Given the description of an element on the screen output the (x, y) to click on. 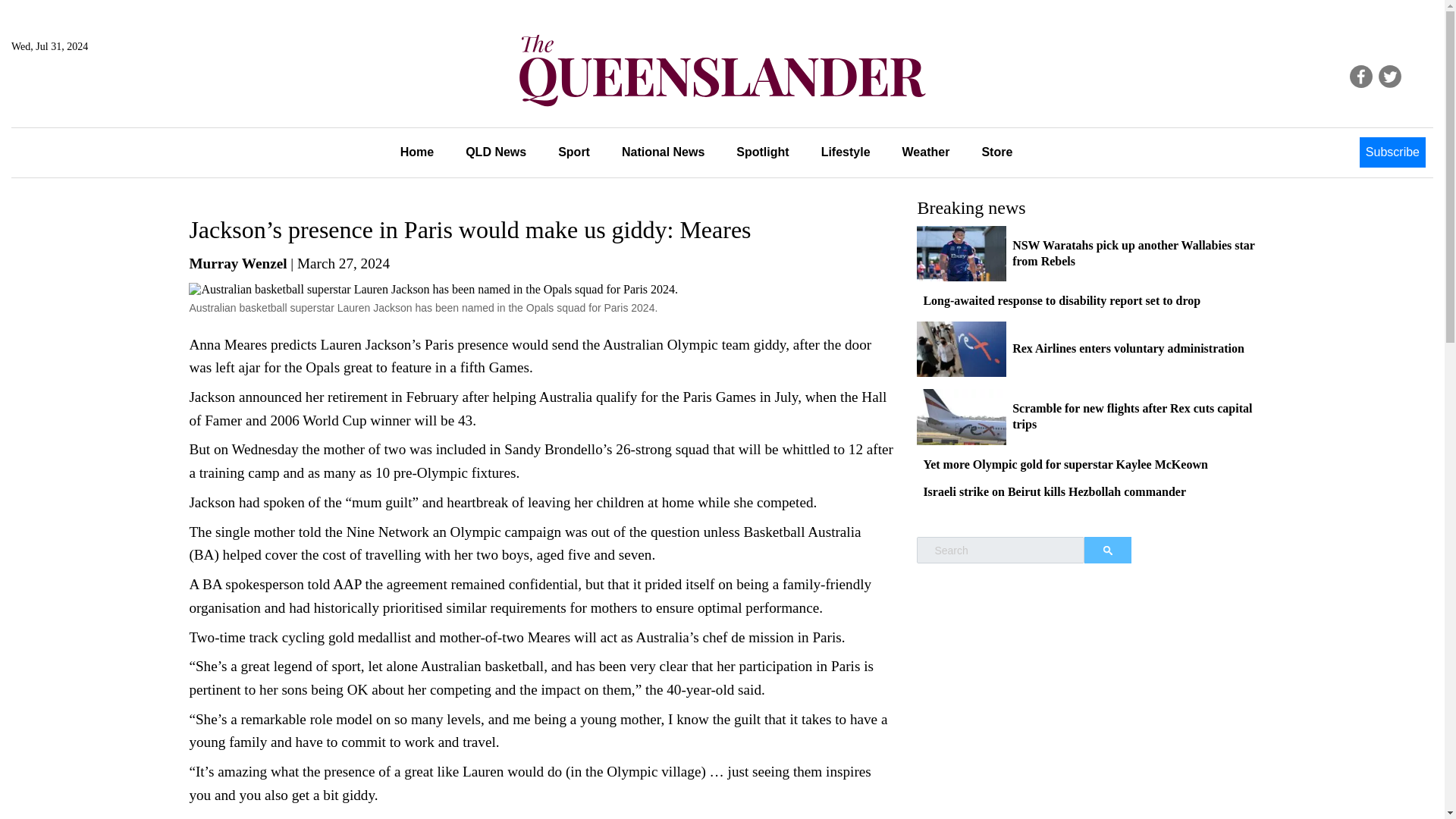
Brisbane Forecast (84, 97)
Israeli strike on Beirut kills Hezbollah commander (1054, 491)
Weather (926, 152)
Search (1107, 550)
NSW Waratahs pick up another Wallabies star from Rebels (1132, 253)
National News (662, 152)
Rex Airlines enters voluntary administration (1127, 348)
Lifestyle (845, 152)
Spotlight (762, 152)
Yet more Olympic gold for superstar Kaylee McKeown (1065, 463)
Scramble for new flights after Rex cuts capital trips (1131, 416)
QLD News (495, 152)
Subscribe (1392, 152)
Long-awaited response to disability report set to drop (1061, 300)
